Given the description of an element on the screen output the (x, y) to click on. 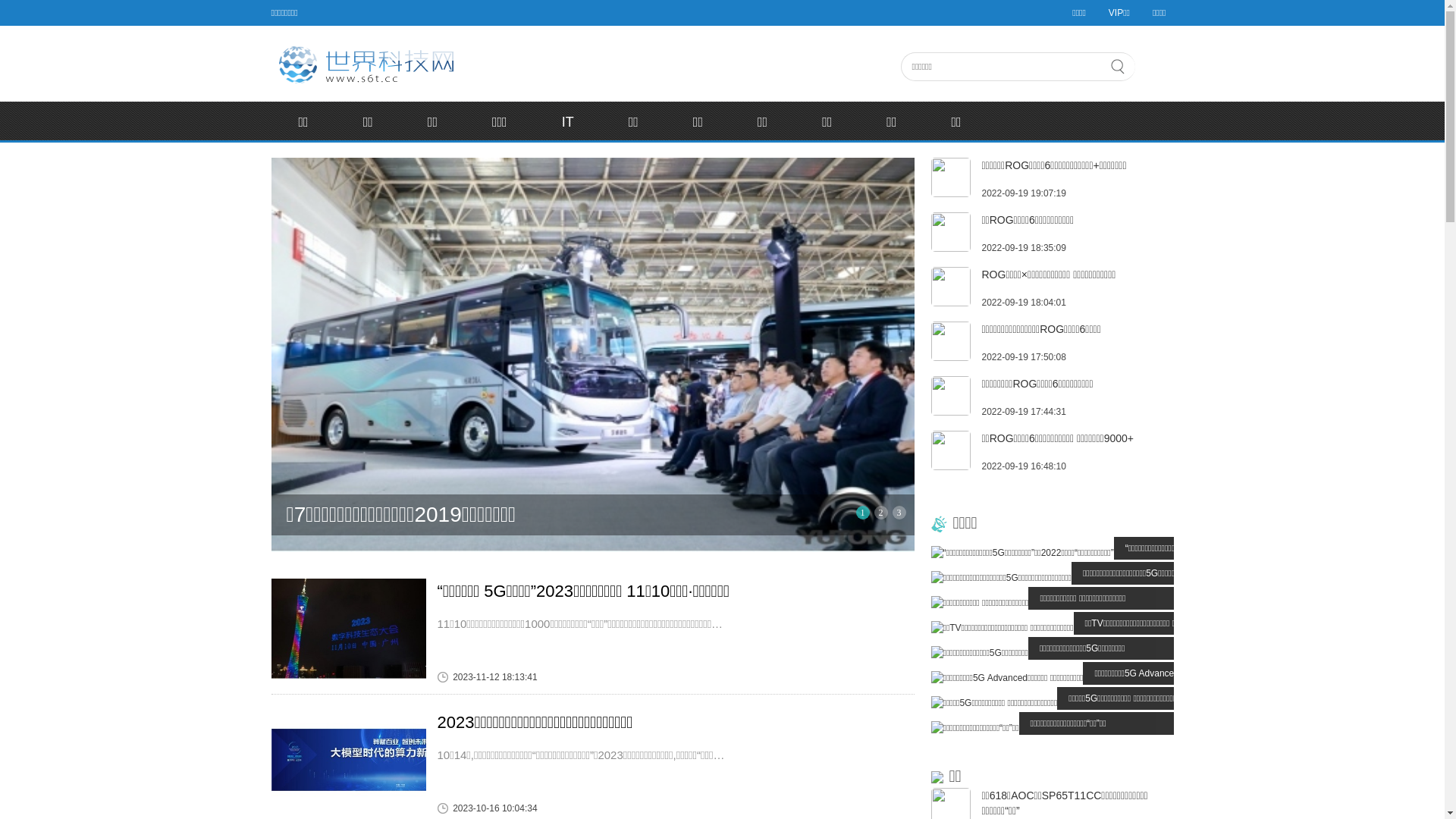
IT Element type: text (567, 121)
